Given the description of an element on the screen output the (x, y) to click on. 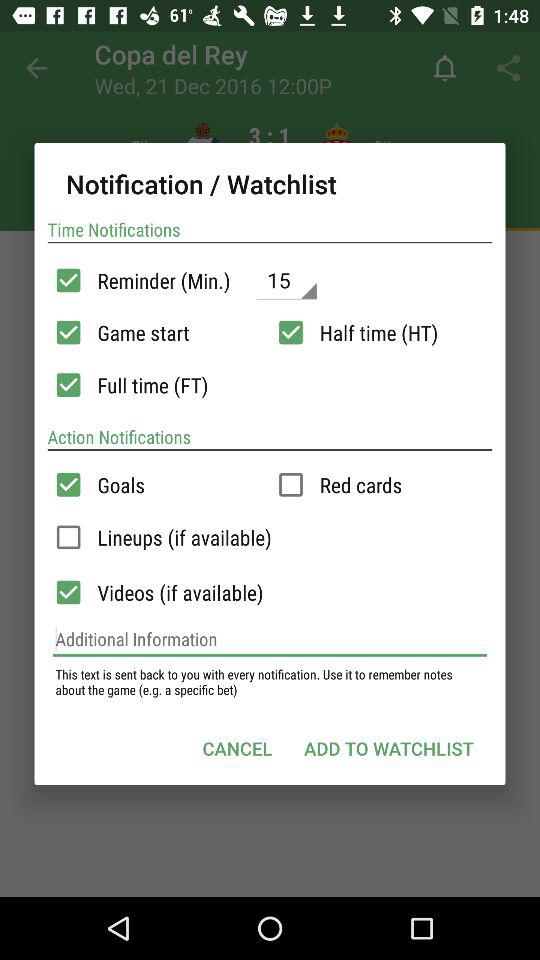
address page (269, 639)
